Given the description of an element on the screen output the (x, y) to click on. 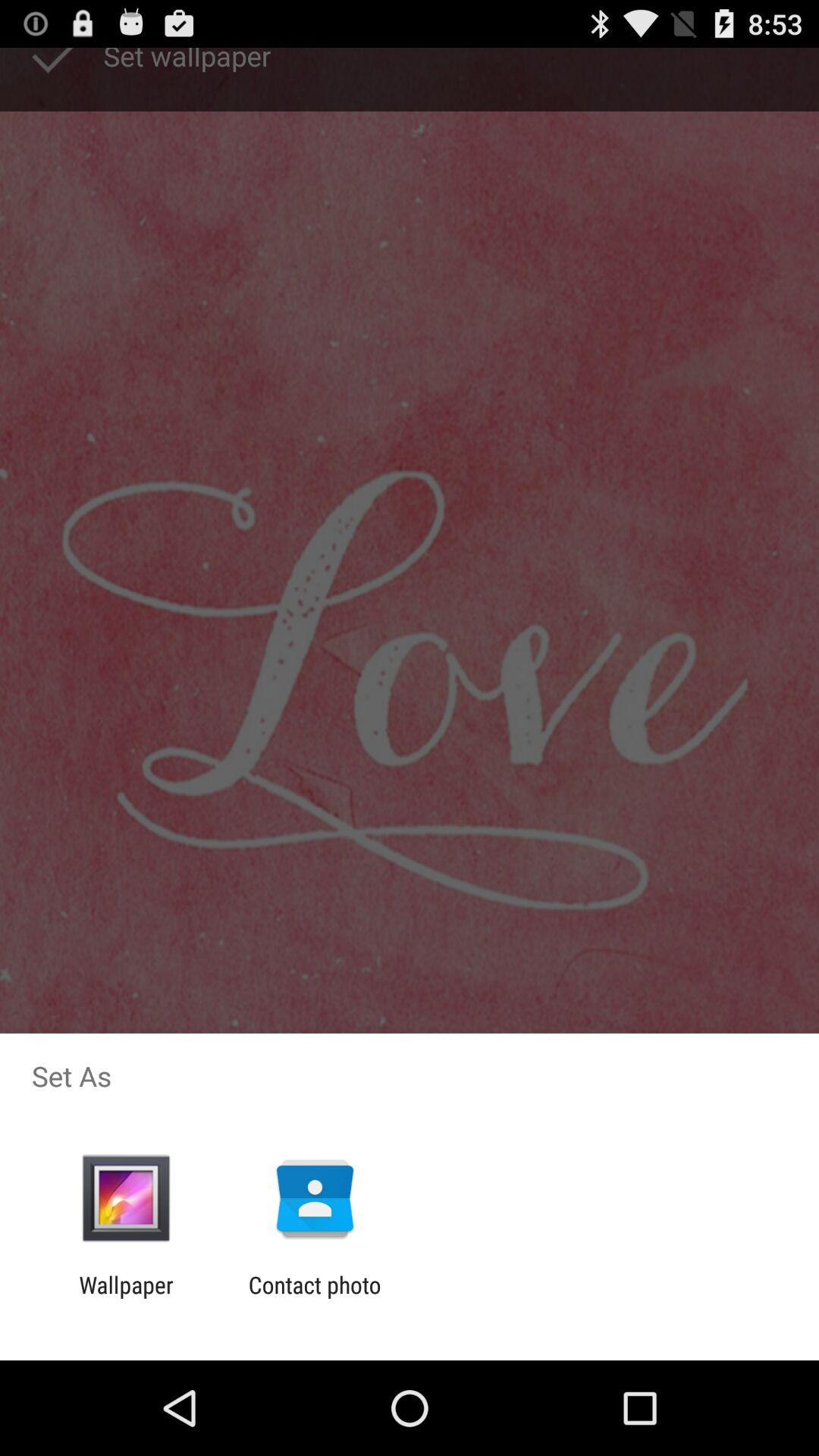
click wallpaper app (126, 1298)
